Given the description of an element on the screen output the (x, y) to click on. 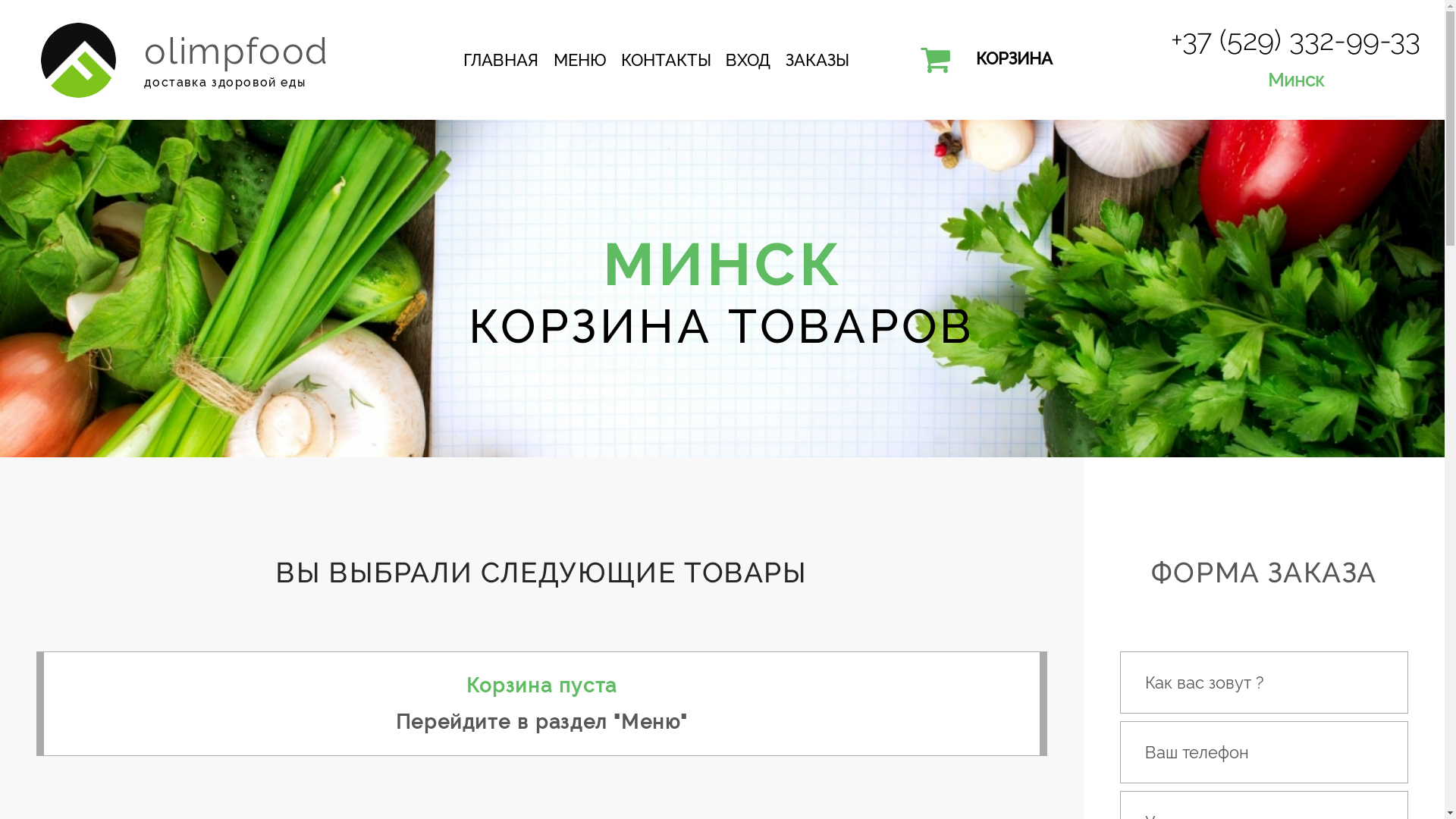
+37 (529) 332-99-33 Element type: text (1295, 39)
